Given the description of an element on the screen output the (x, y) to click on. 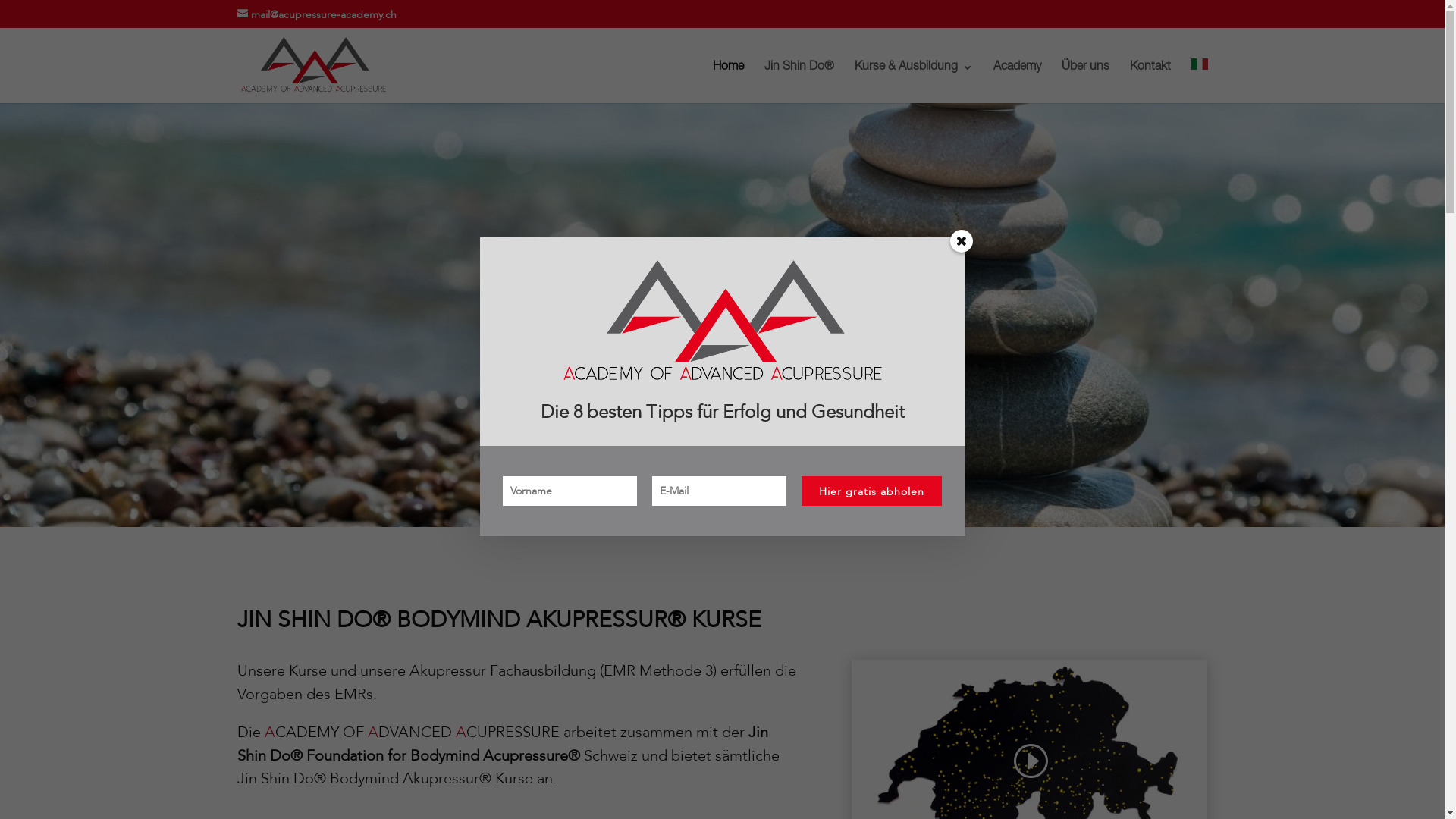
Academy Element type: text (1017, 82)
Kontakt Element type: text (1149, 82)
mail@acupressure-academy.ch Element type: text (315, 14)
Kurse & Ausbildung Element type: text (912, 82)
Home Element type: text (727, 82)
Hier gratis abholen Element type: text (871, 490)
